Given the description of an element on the screen output the (x, y) to click on. 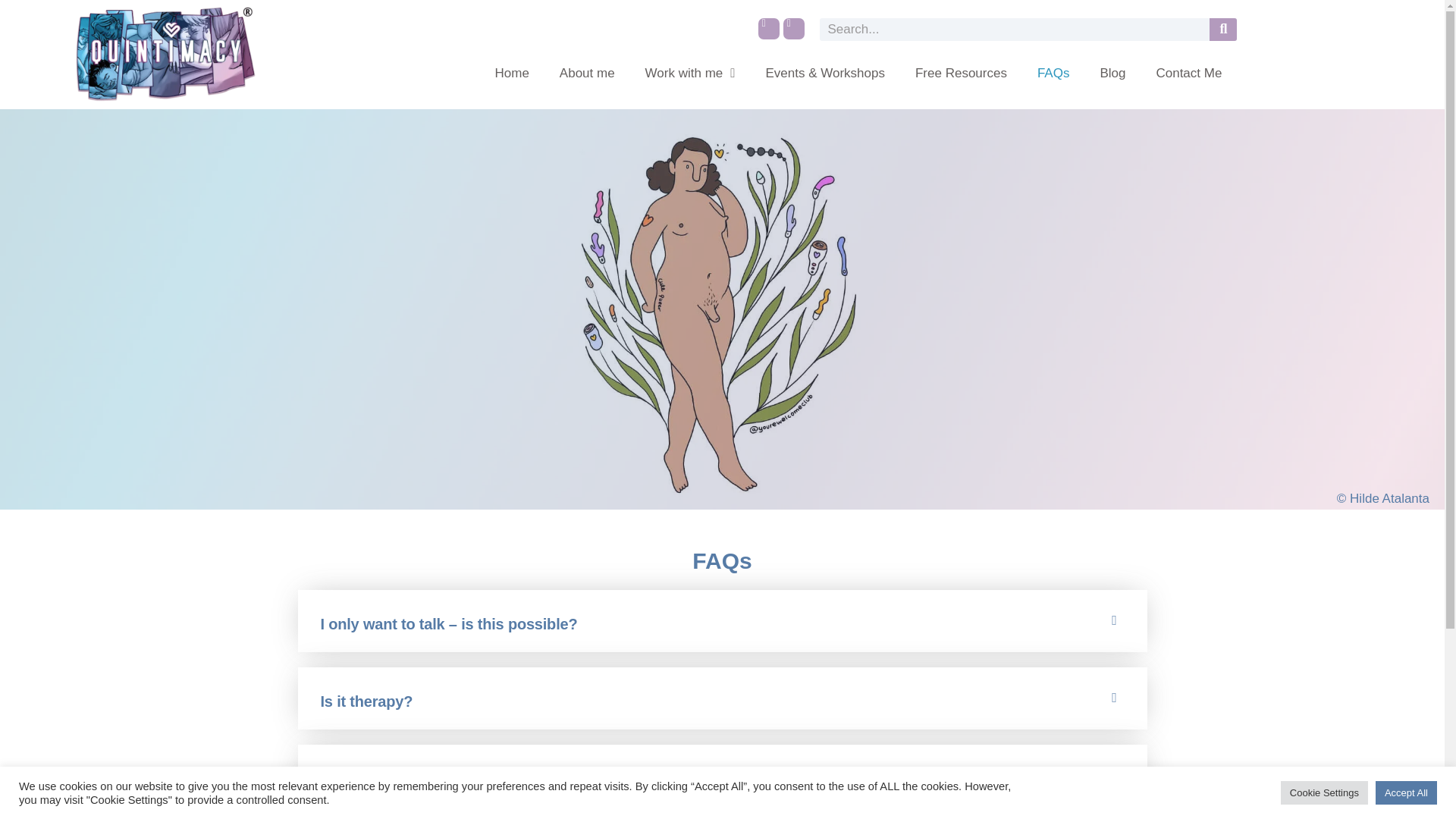
Blog (1112, 73)
FAQs (1053, 73)
About me (587, 73)
Home (511, 73)
Work with me (690, 73)
Contact Me (1188, 73)
Free Resources (960, 73)
